Given the description of an element on the screen output the (x, y) to click on. 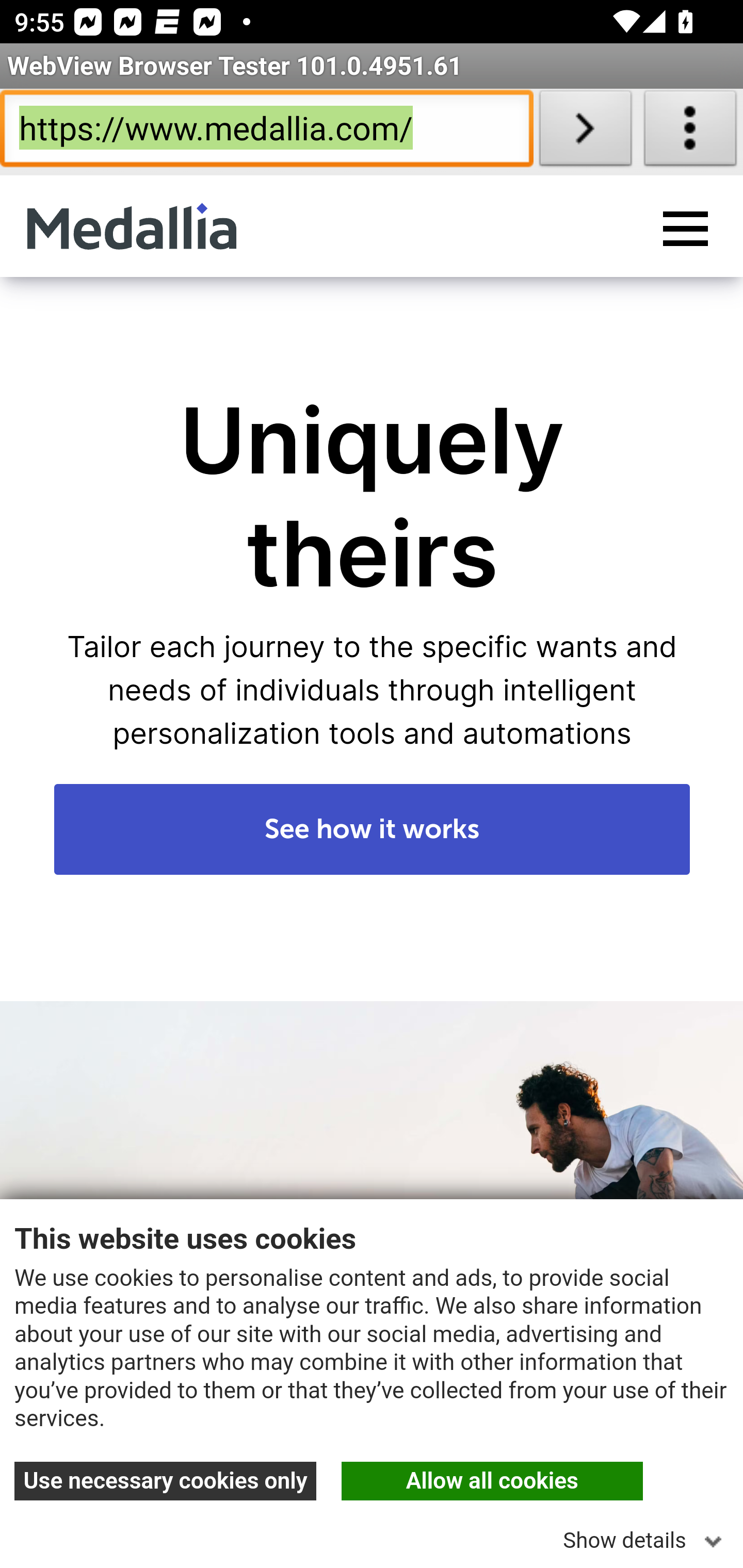
https://www.medallia.com/ (266, 132)
Load URL (585, 132)
About WebView (690, 132)
Medallia (131, 226)
See how it works (372, 829)
Use necessary cookies only (166, 1481)
Allow all cookies (491, 1481)
Show details (646, 1534)
